Given the description of an element on the screen output the (x, y) to click on. 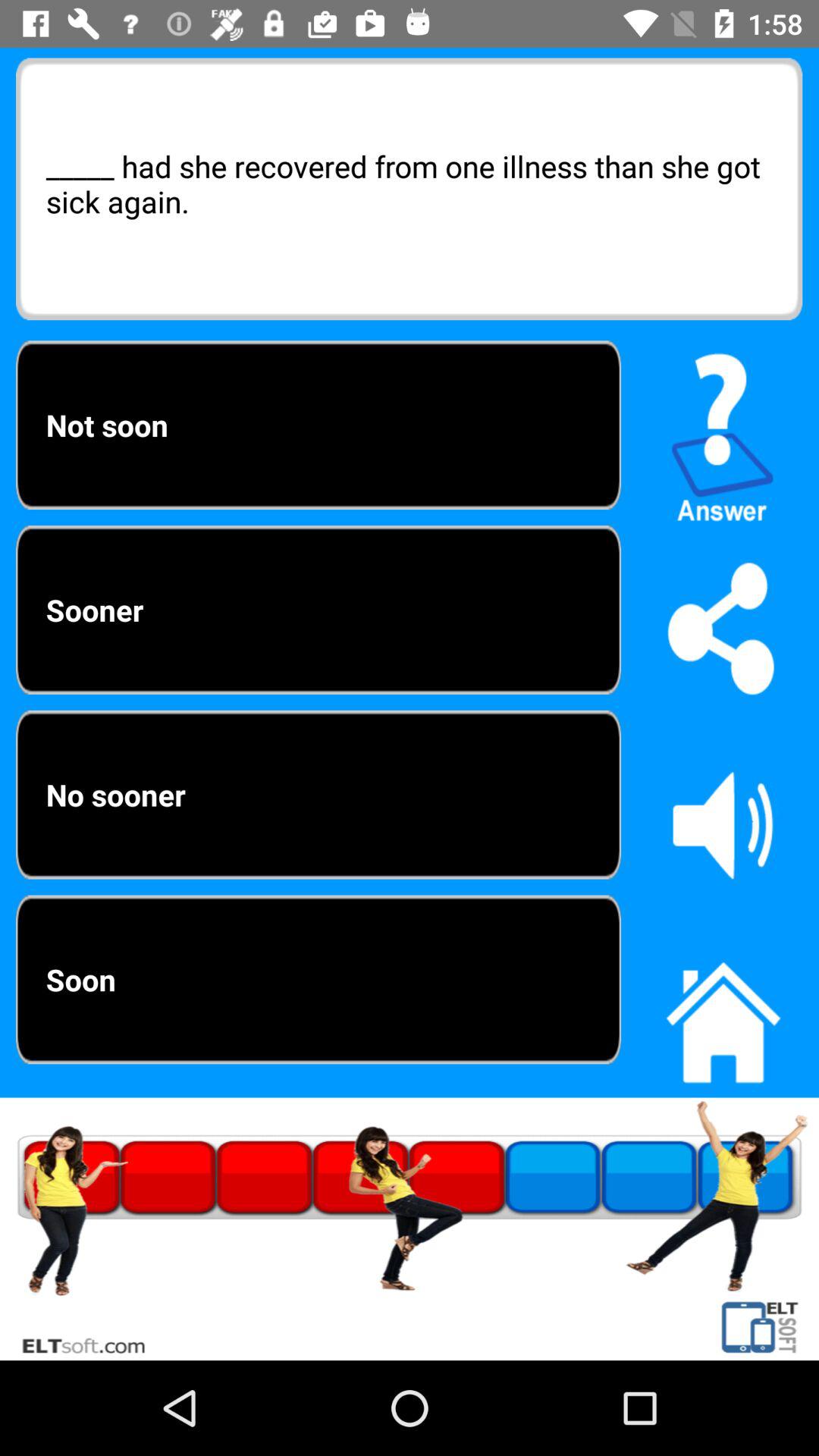
share page (723, 627)
